Given the description of an element on the screen output the (x, y) to click on. 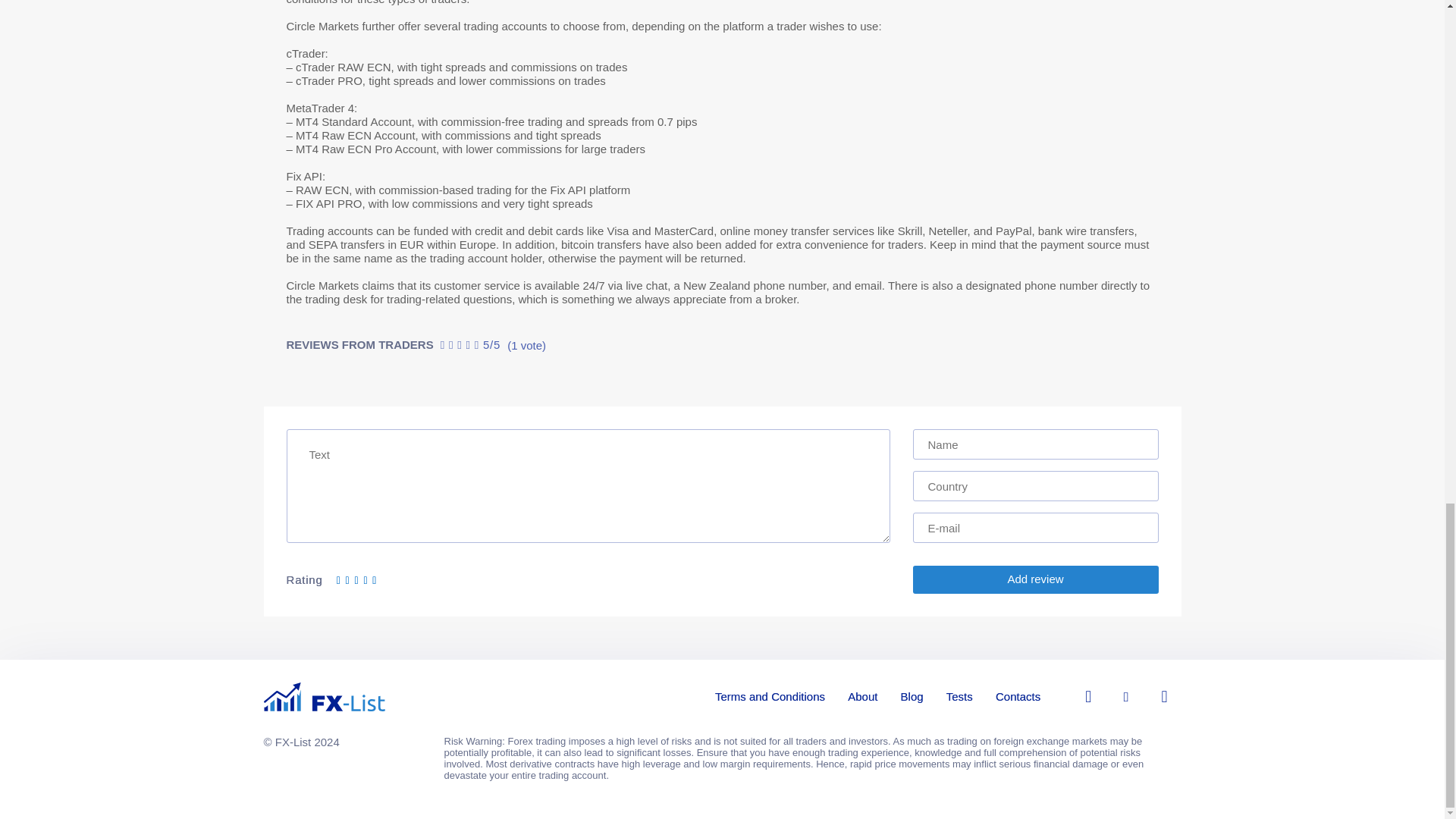
Terms and Conditions (769, 696)
Contacts (1018, 696)
Tests (959, 696)
Blog (912, 696)
About (862, 696)
Add review (1035, 579)
